Given the description of an element on the screen output the (x, y) to click on. 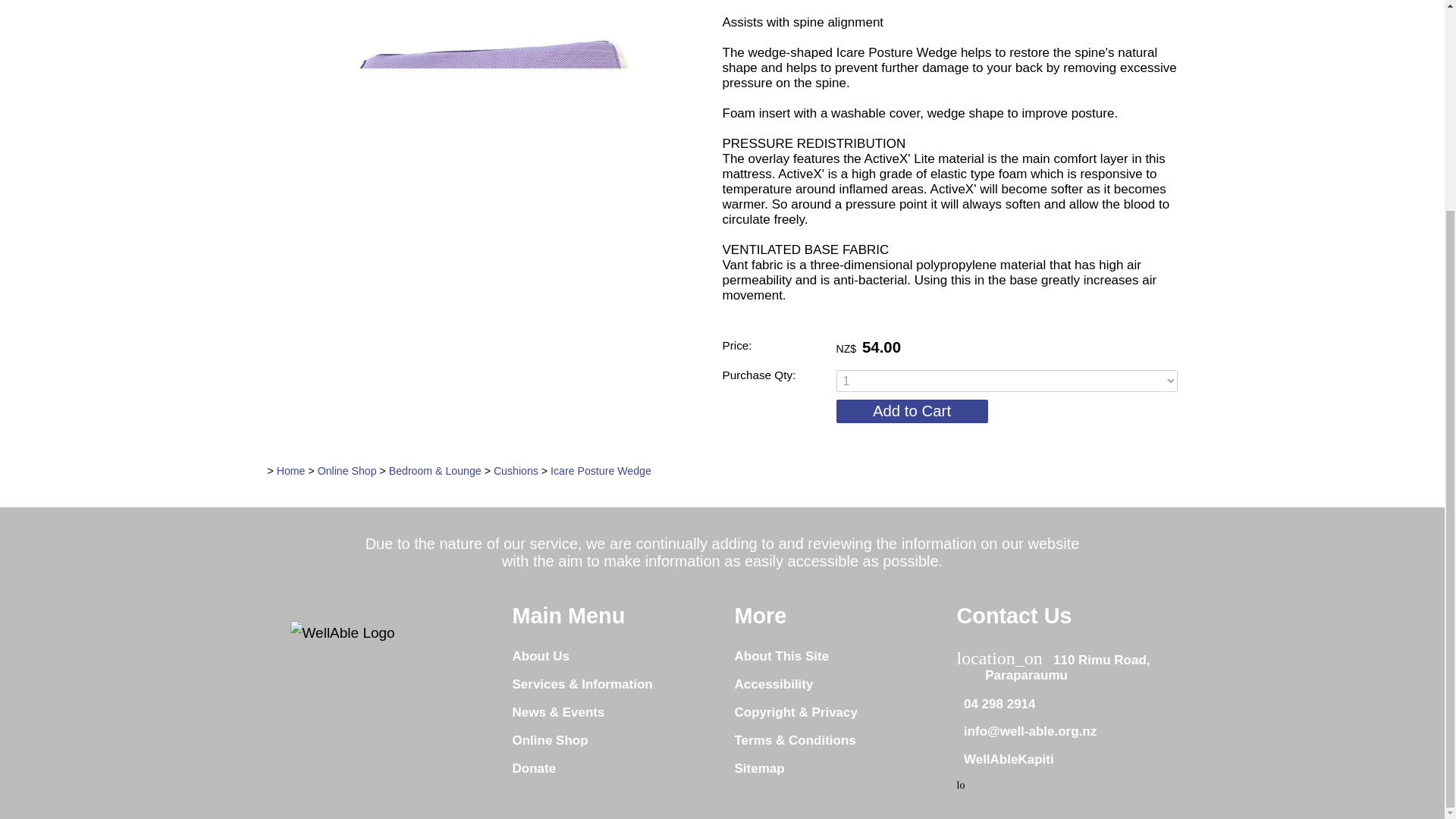
Add to Cart (911, 411)
Icare Posture Wedge (484, 344)
